Given the description of an element on the screen output the (x, y) to click on. 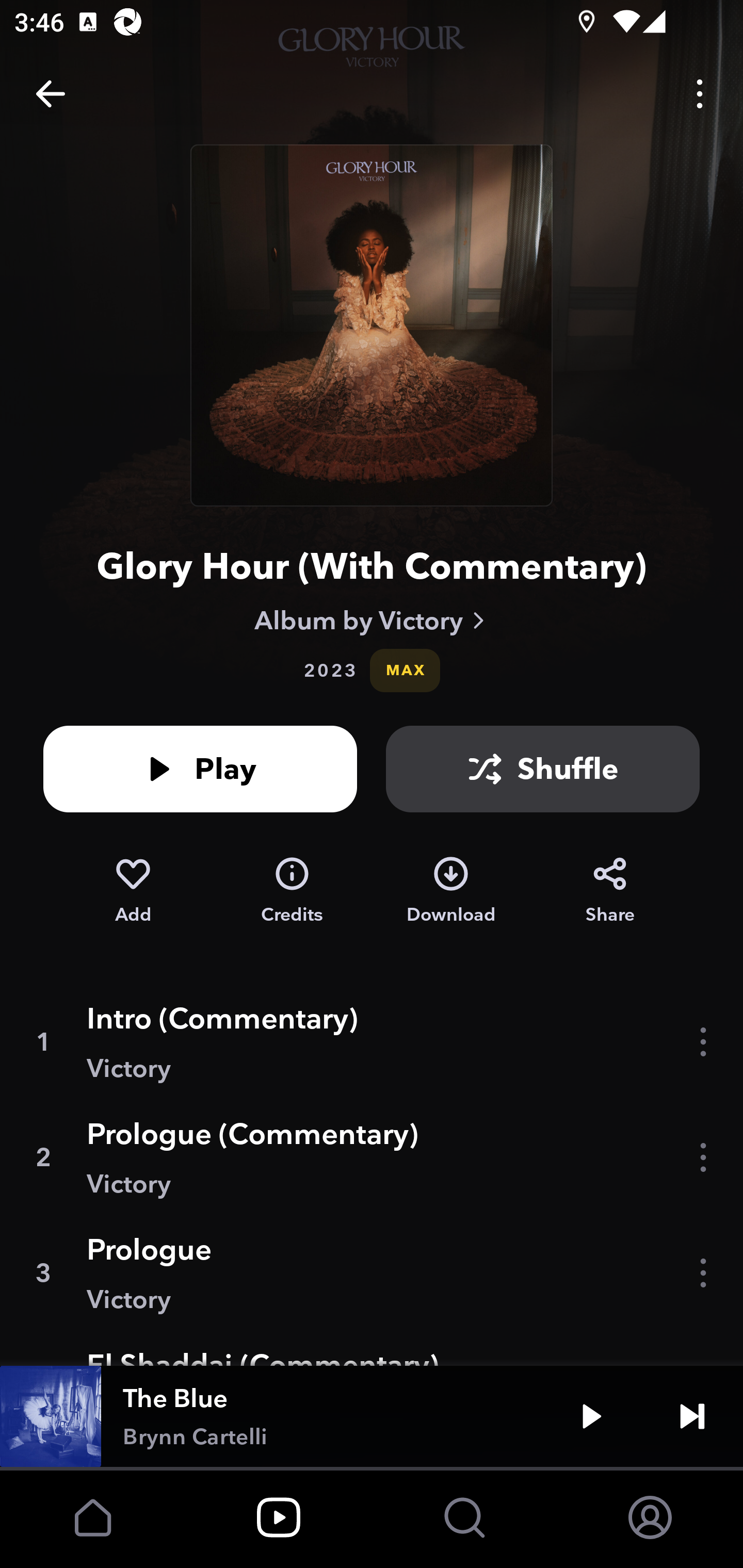
Options (699, 93)
Glory Hour (With Commentary) (371, 565)
Album by Victory (371, 619)
Play (200, 768)
Shuffle (542, 768)
Add to My Collection Add (132, 890)
Credits (291, 890)
Download (450, 890)
Share (609, 890)
1 Intro (Commentary) Victory (371, 1041)
2 Prologue (Commentary) Victory (371, 1157)
3 Prologue Victory (371, 1273)
The Blue Brynn Cartelli Play (371, 1416)
Play (590, 1416)
